Given the description of an element on the screen output the (x, y) to click on. 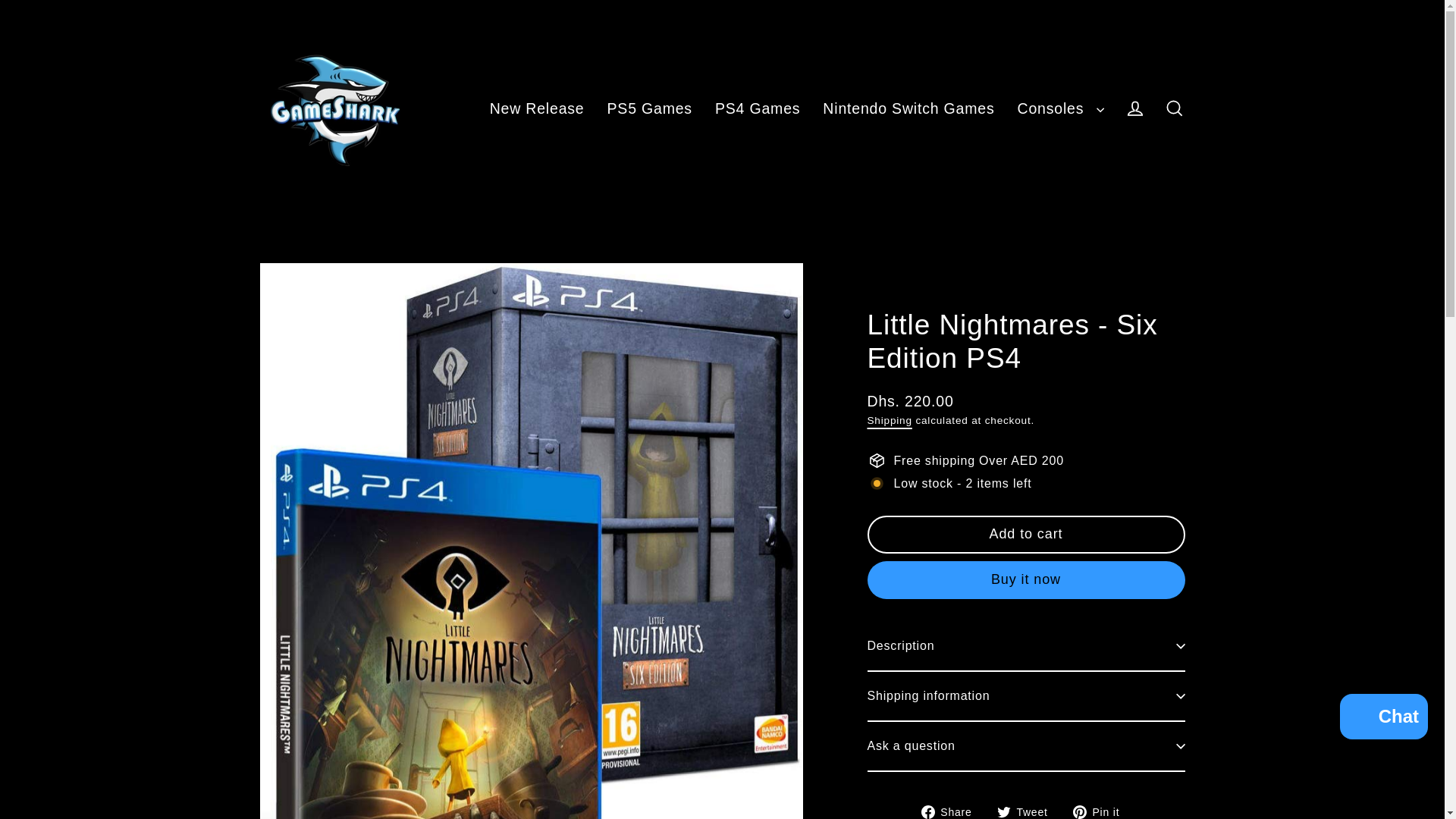
twitter (1003, 812)
Nintendo Switch Games (908, 108)
Tweet on Twitter (1028, 811)
Shipping (889, 419)
Description (1026, 645)
Shipping information (1026, 695)
Add to cart (1026, 534)
PS5 Games (649, 108)
Search (1173, 108)
Share on Facebook (952, 811)
